Given the description of an element on the screen output the (x, y) to click on. 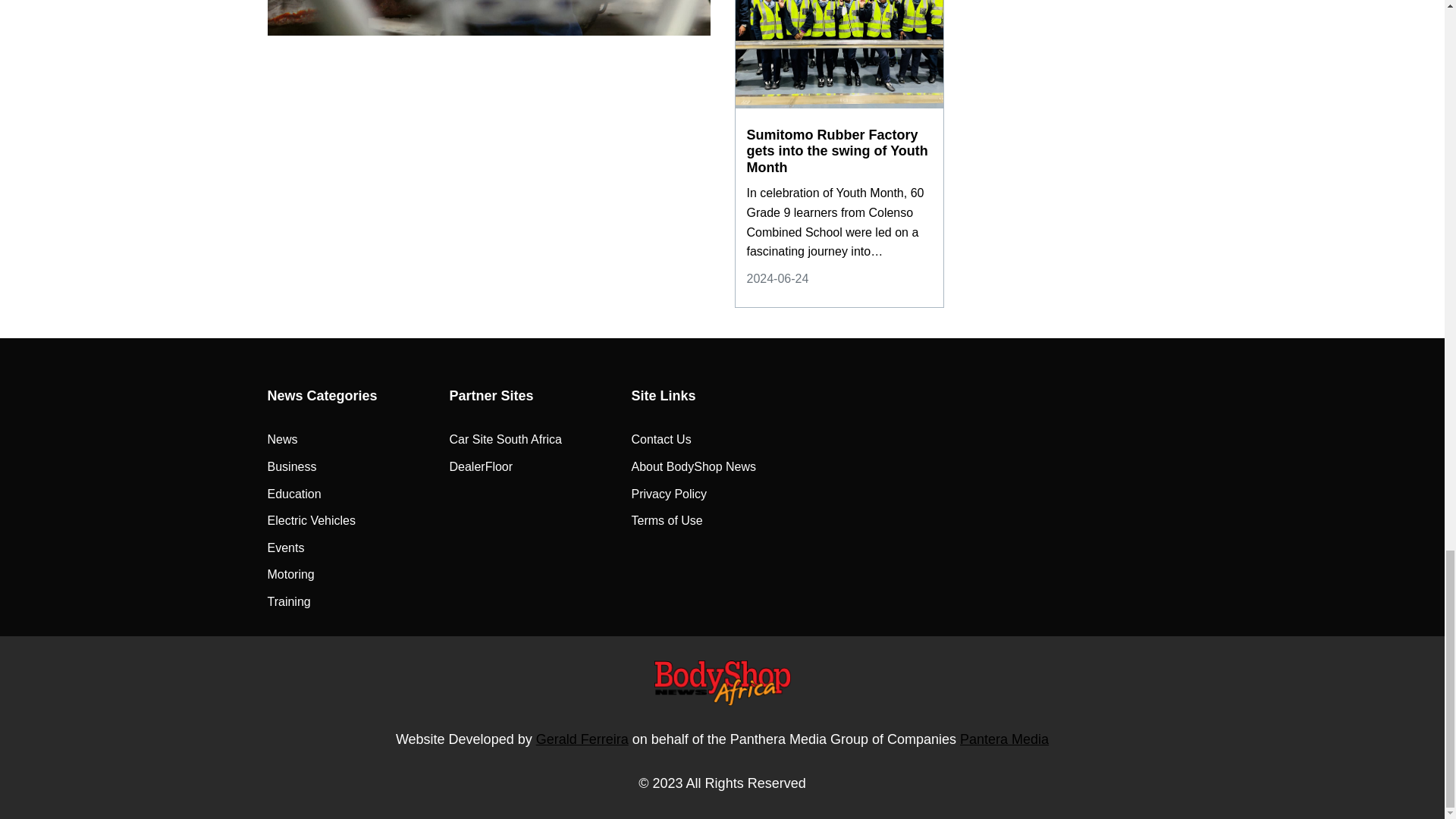
News (281, 439)
About BodyShop News (692, 466)
Terms of Use (665, 520)
Pantera Media (1003, 739)
Training (288, 601)
Business (290, 466)
Motoring (290, 574)
Events (285, 547)
Gerald Ferreira (581, 739)
Car Site South Africa (505, 439)
Privacy Policy (668, 494)
Electric Vehicles (310, 520)
Sumitomo Rubber Factory gets into the swing of Youth Month (838, 151)
Education (293, 494)
DealerFloor (480, 466)
